Given the description of an element on the screen output the (x, y) to click on. 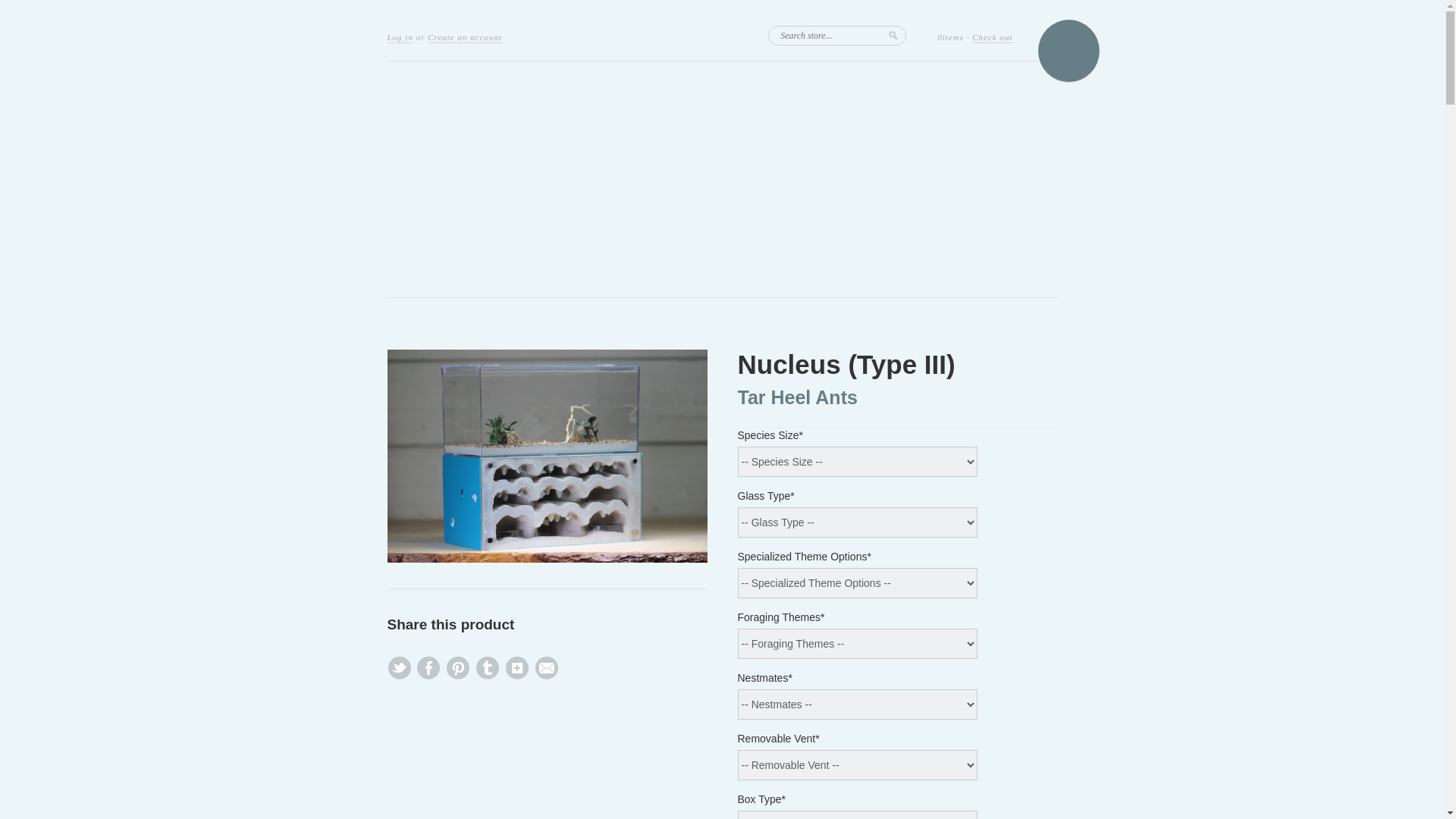
Create an account (465, 37)
Check out (991, 37)
Log in (399, 37)
Tar Heel Ants (796, 396)
0items (950, 37)
